Given the description of an element on the screen output the (x, y) to click on. 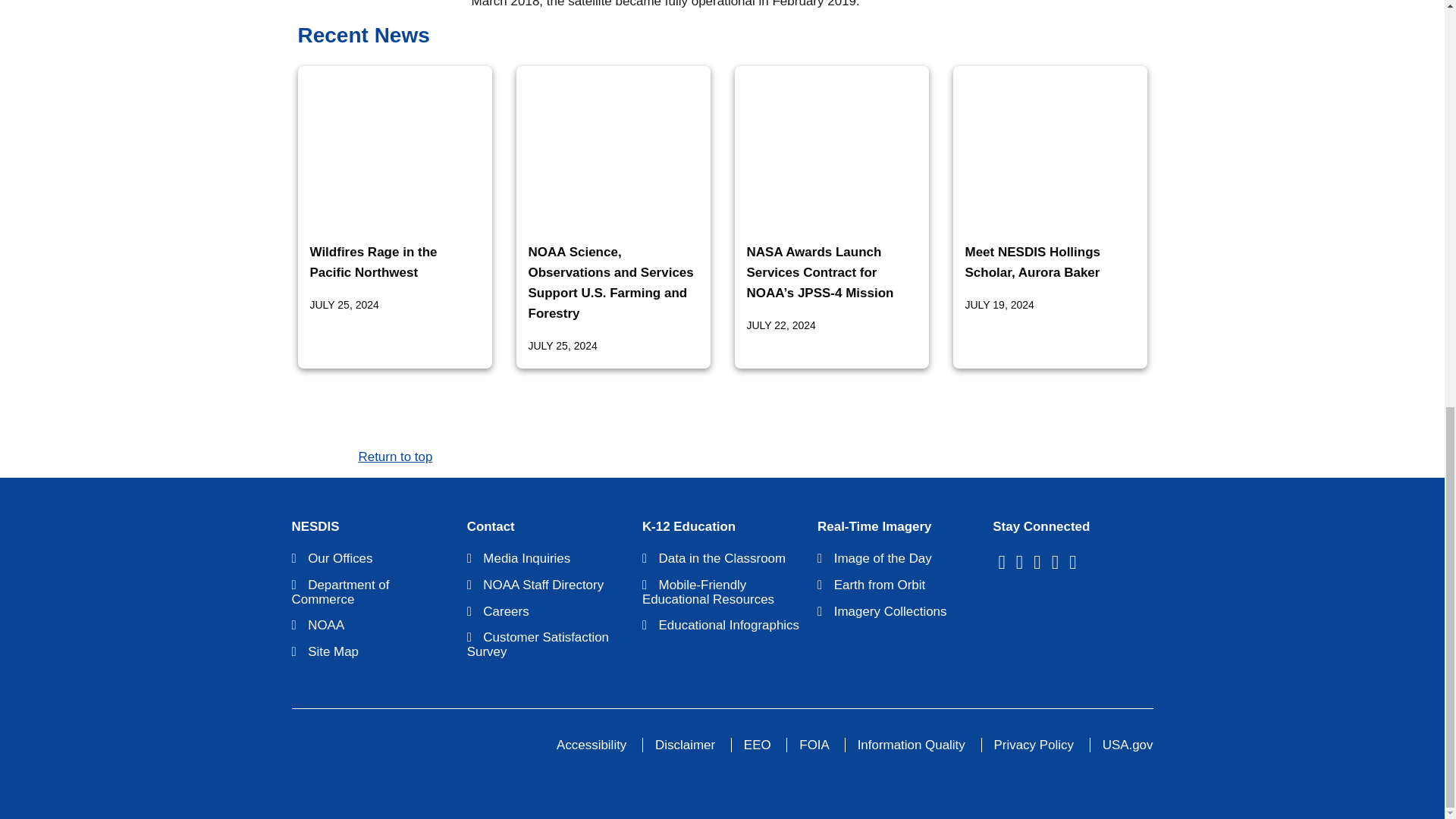
FOIA (813, 744)
July 25, 2024 - 13:24 PM (343, 304)
Meet NESDIS Hollings Scholar, Aurora Baker (1031, 262)
July 22, 2024 - 15:56 PM (780, 325)
July 19, 2024 - 13:08 PM (998, 304)
Wildfires Rage in the Pacific Northwest (372, 262)
July 25, 2024 - 08:38 AM (561, 345)
